Given the description of an element on the screen output the (x, y) to click on. 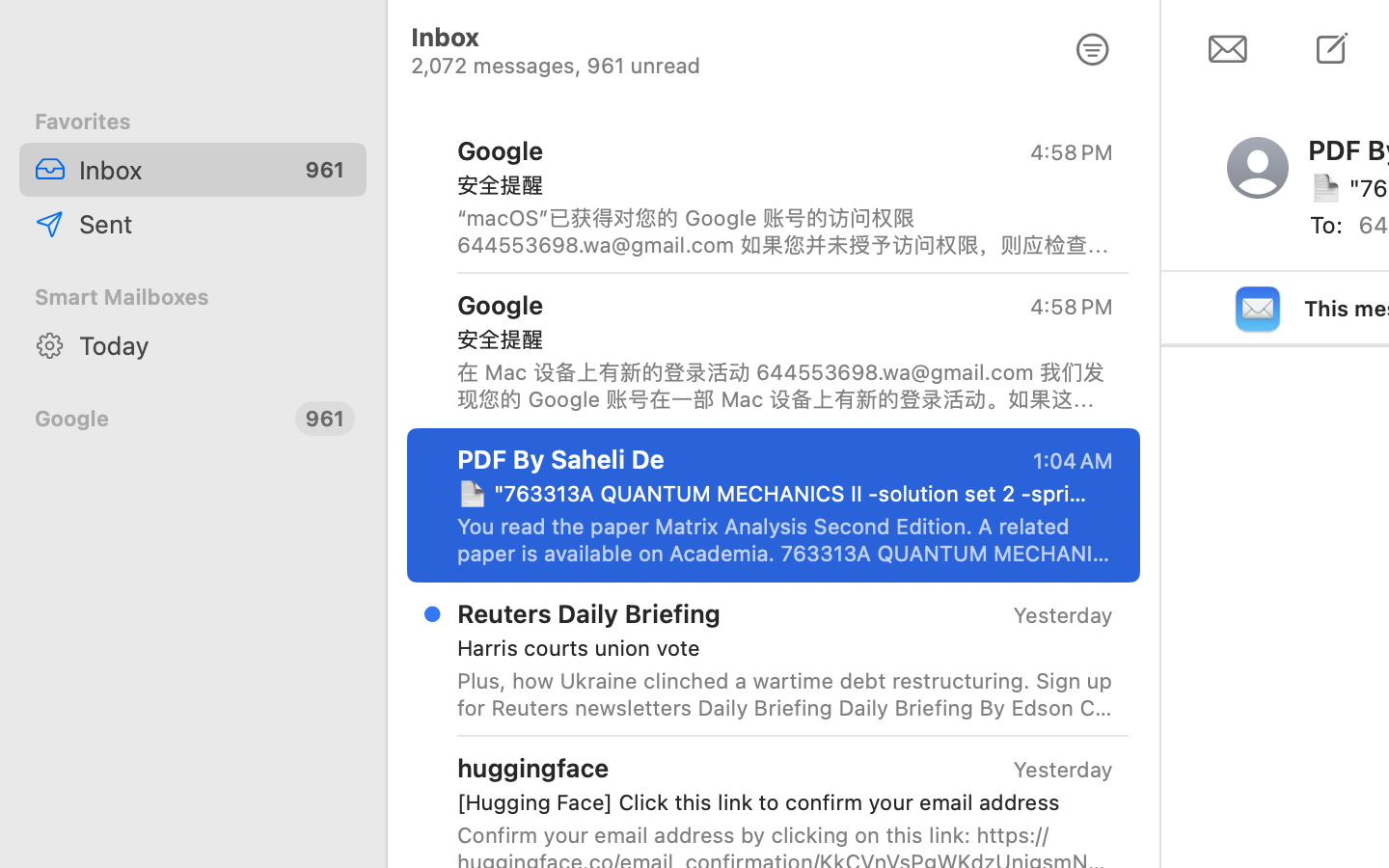
Sent Element type: AXStaticText (214, 223)
PDF By Saheli De Element type: AXStaticText (561, 458)
0.0 Element type: AXValueIndicator (1147, 127)
4:58 PM Element type: AXStaticText (1071, 151)
Plus, how Ukraine clinched a wartime debt restructuring. Sign up for Reuters newsletters Daily Briefing Daily Briefing By Edson Caldas Kamala Harris said that US Steel should remain in domestic hands, making a pitch to working-class voters in Pennsylvania who are also being courted by her rival Donald Trump. Elsewhere, we cover Britain's partial suspension of arms export licenses to Israel, and a slump in Intel's share price. Plus, why South Korea's beloved Kimchi is at risk. Today's Top News Kamala Harris with Joe Biden's first appearance together at a rally since she became the Democratic nominee. REUTERS/Quinn Glabicki US election Democratic presidential candidate Kamala Harris used campaign events in Michigan and Pennsylvania, two battleground states, to court the crucial labor vote. Harris has neutralized Donald Trump's edge on the economy among Hispanic voters, and her 13 percentage point lead within that group reflects the fact they vastly prefer her approach to healthcare and c Element type: AXStaticText (784, 694)
